Given the description of an element on the screen output the (x, y) to click on. 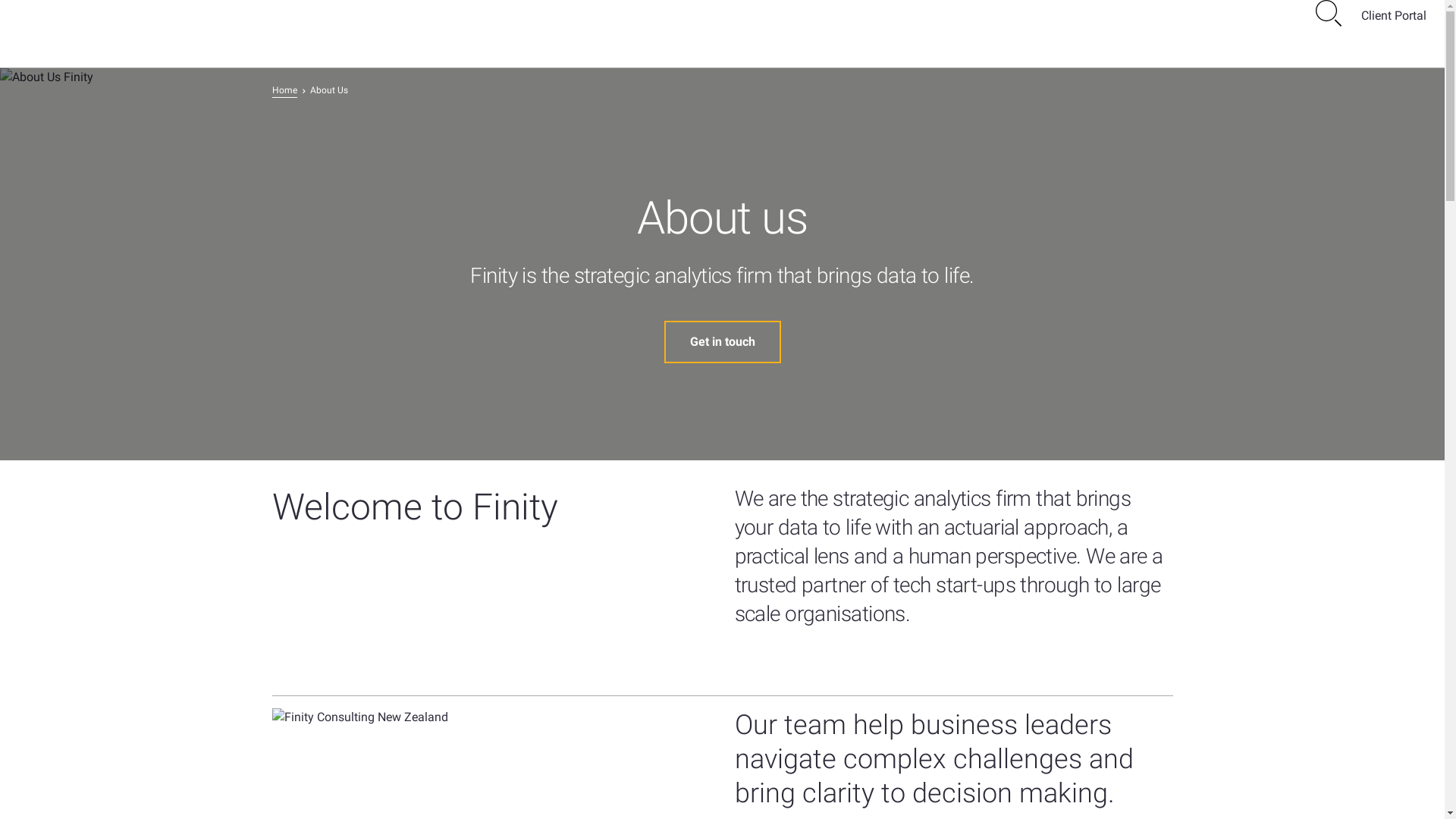
About Us Element type: text (328, 90)
Client Portal Element type: text (1393, 15)
Get in touch Element type: text (722, 341)
Home Element type: text (283, 90)
